Given the description of an element on the screen output the (x, y) to click on. 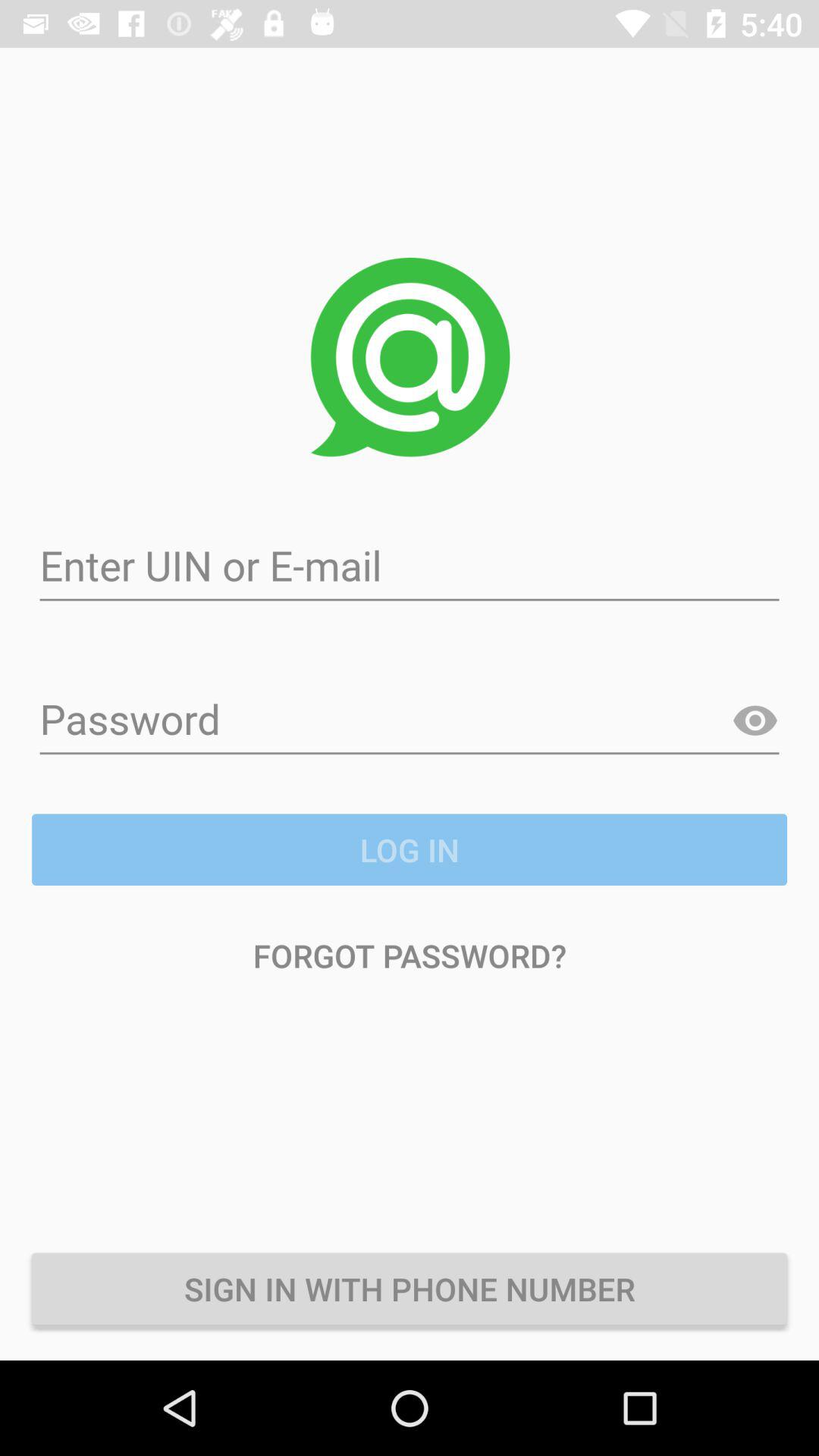
turn on forgot password? item (409, 955)
